Given the description of an element on the screen output the (x, y) to click on. 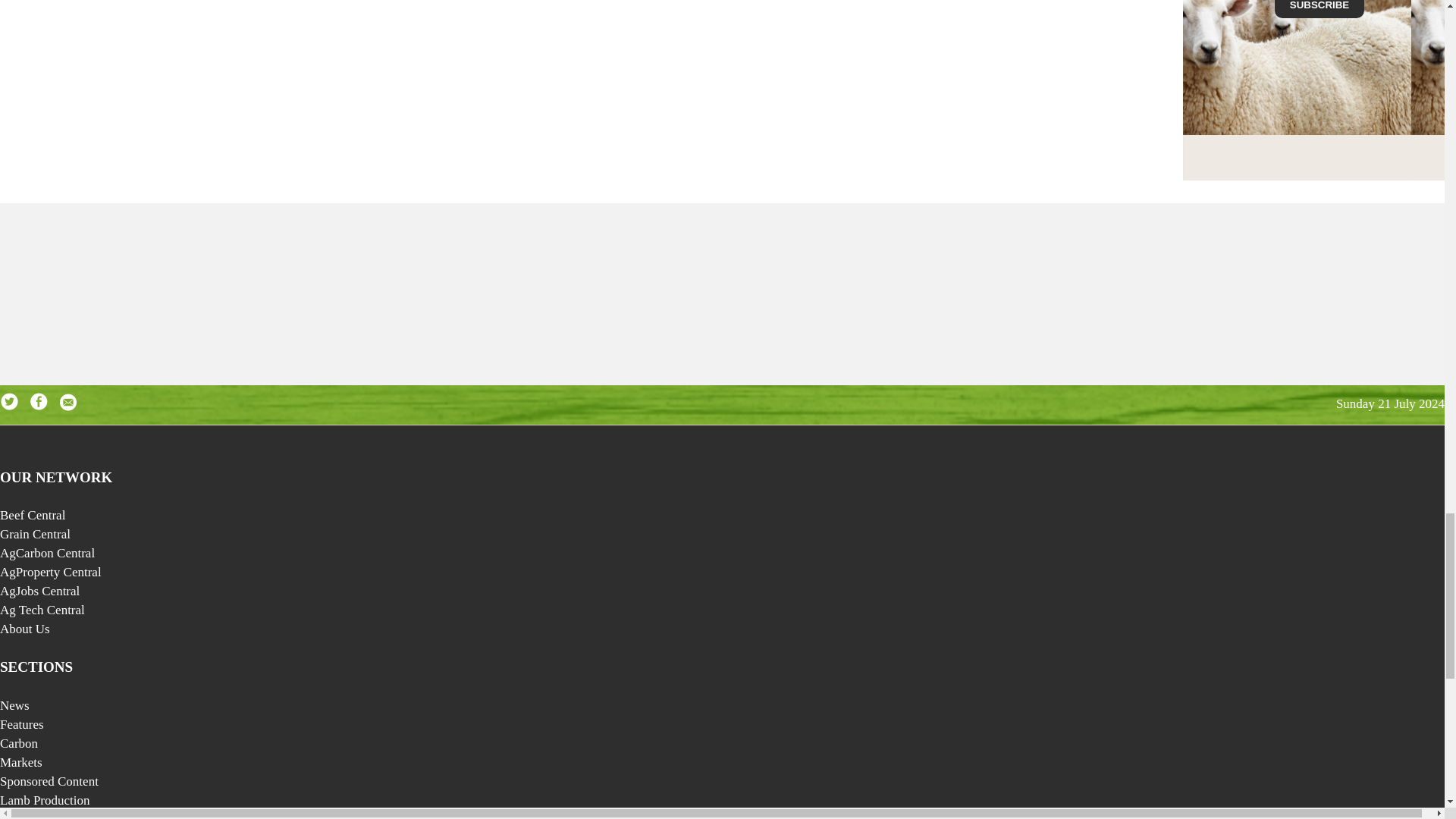
3rd party ad content (721, 282)
